Given the description of an element on the screen output the (x, y) to click on. 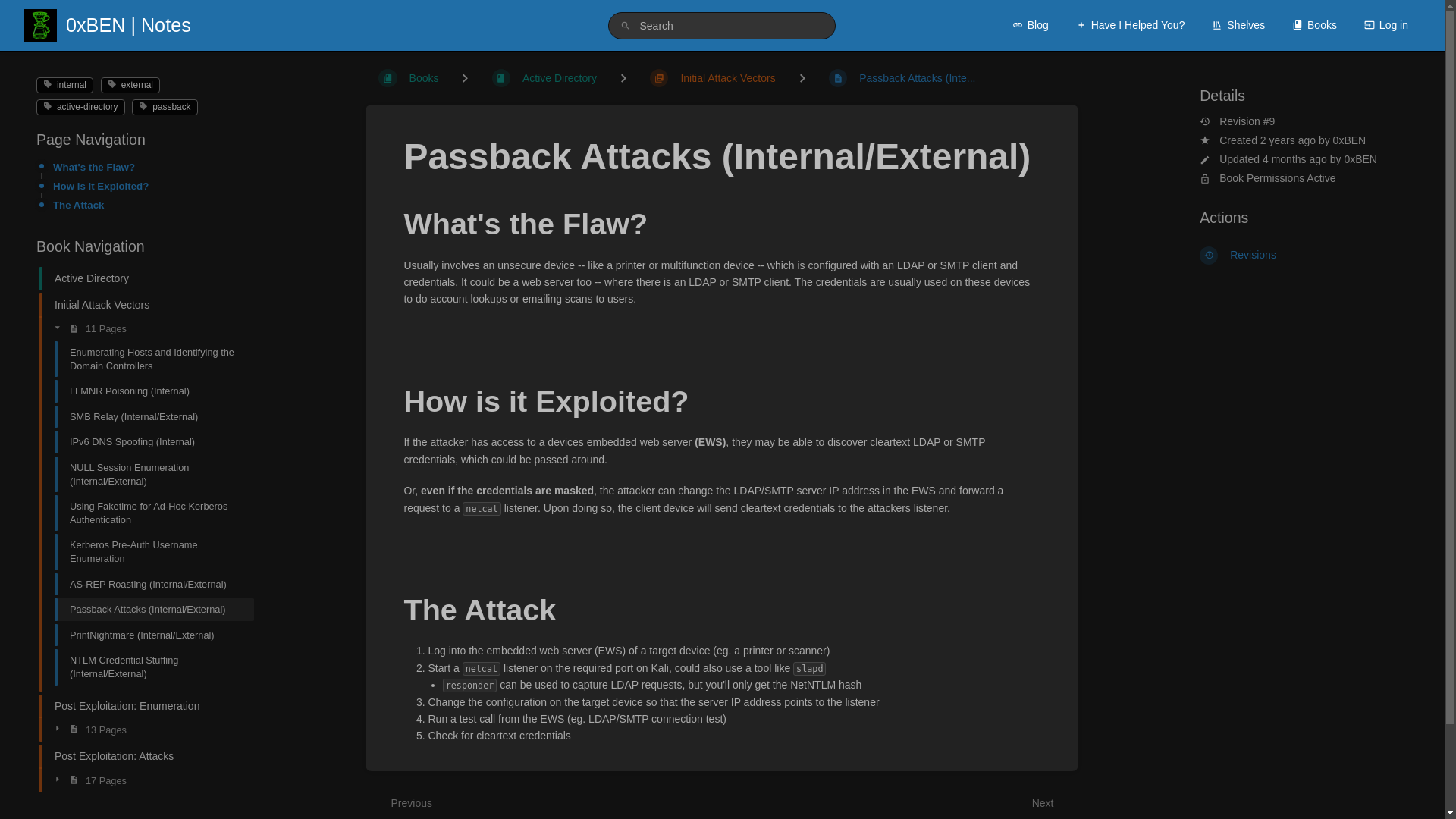
Enumerating Hosts and Identifying the Domain Controllers (147, 358)
active-directory (80, 106)
Have I Helped You? (1130, 24)
Books (1314, 24)
13 Pages (147, 729)
What's the Flaw? (148, 166)
Revisions (1304, 255)
Sat, Mar 12, 2022 4:50 PM (1288, 140)
11 Pages (147, 328)
Shelves (1237, 24)
Initial Attack Vectors (140, 304)
Kerberos Pre-Auth Username Enumeration (147, 551)
Active Directory (140, 278)
passback (164, 106)
Log in (1386, 24)
